Given the description of an element on the screen output the (x, y) to click on. 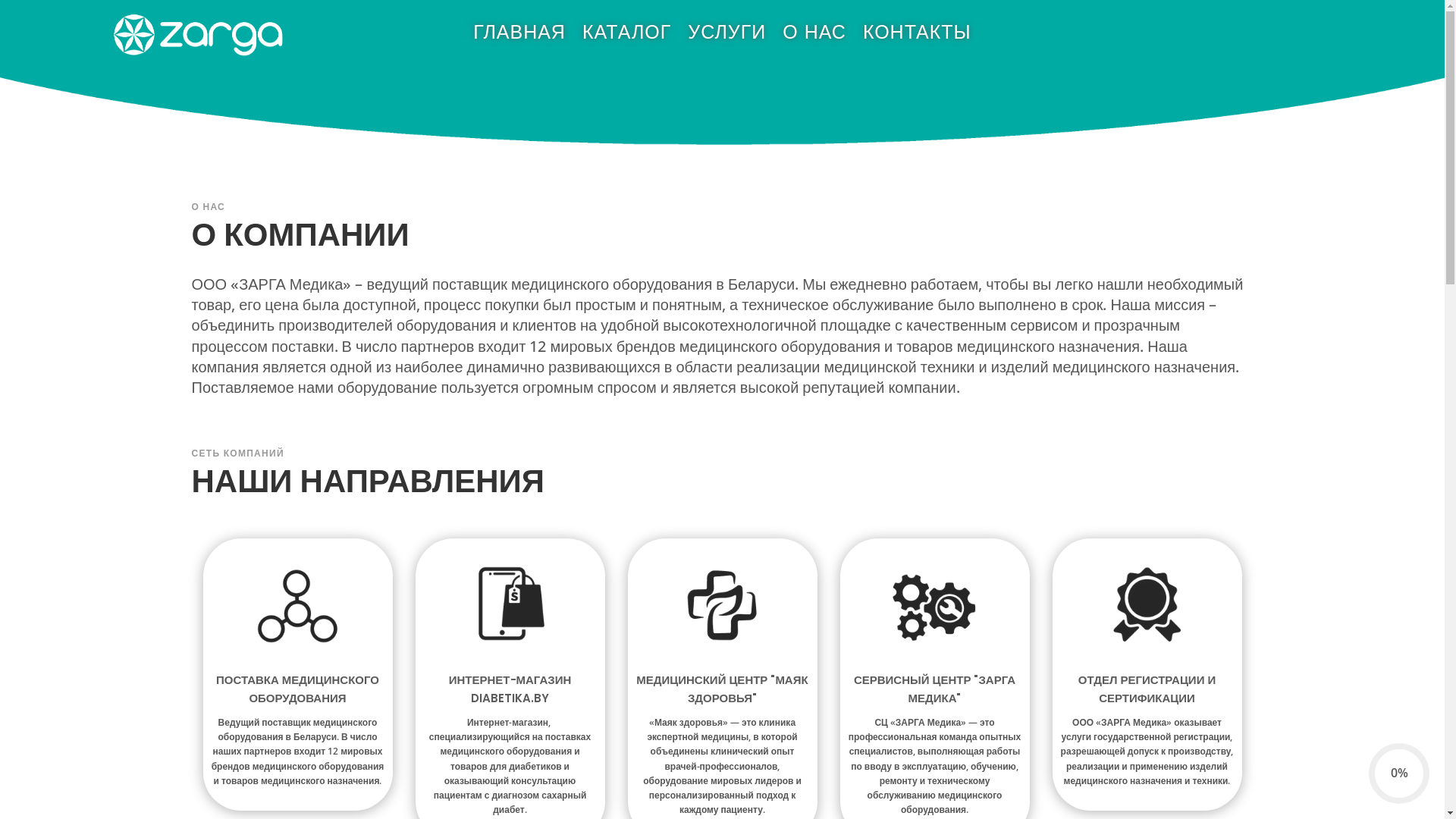
Smallheader Element type: hover (722, 106)
Zarga Logo White Element type: hover (197, 34)
